Given the description of an element on the screen output the (x, y) to click on. 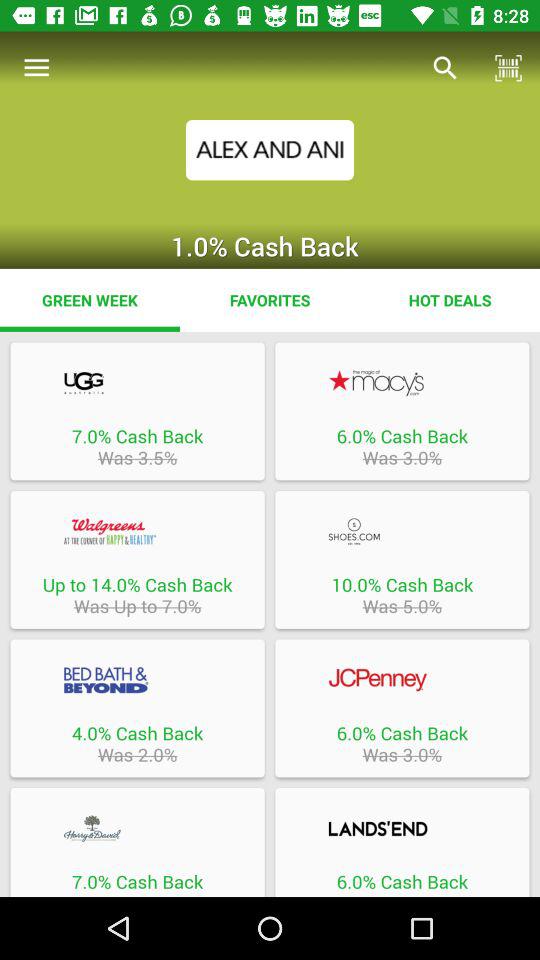
buying option (402, 828)
